Given the description of an element on the screen output the (x, y) to click on. 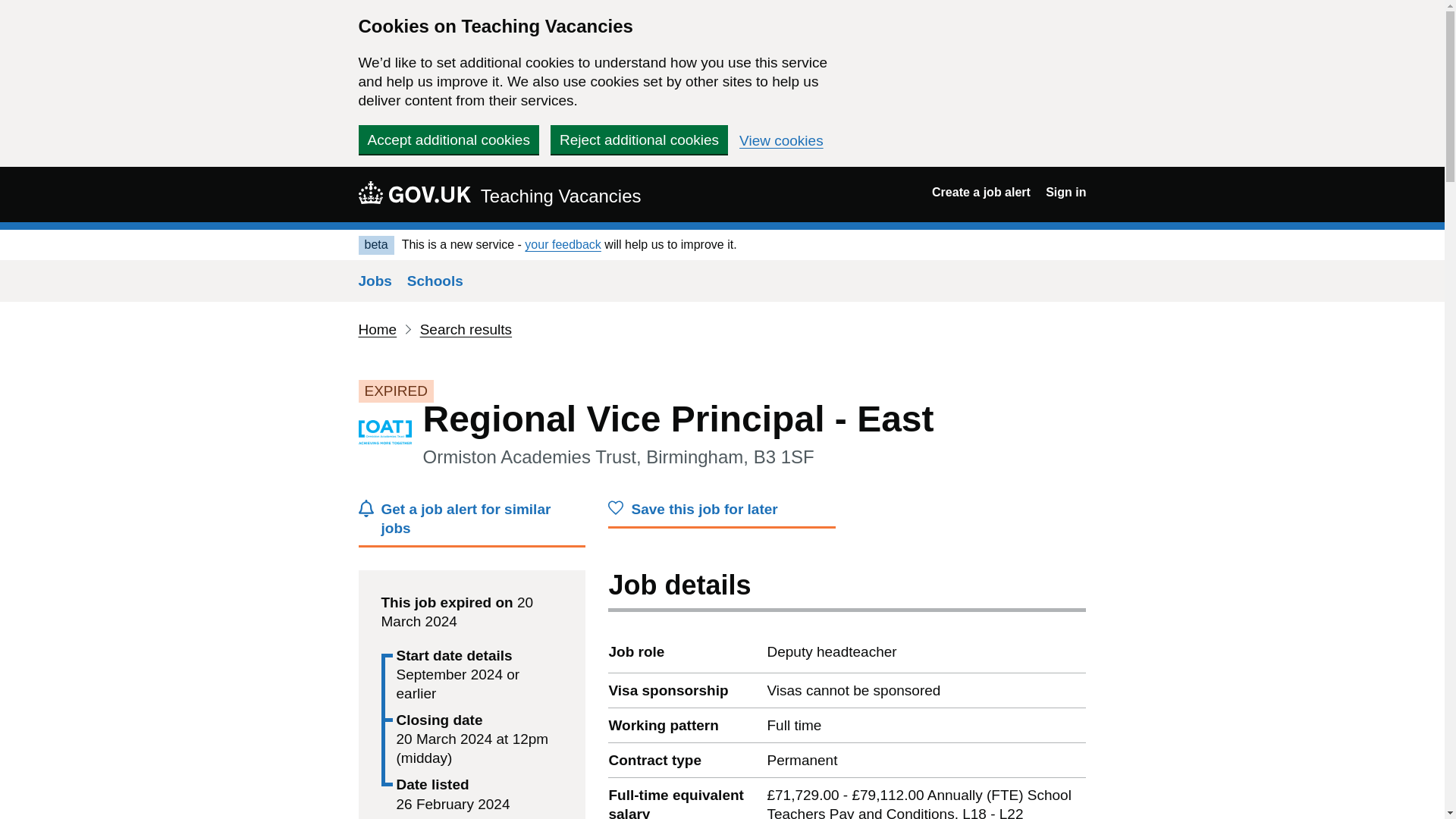
View cookies (781, 140)
Sign in (1065, 192)
your feedback (562, 244)
Schools (435, 281)
GOV.UK (414, 191)
Accept additional cookies (448, 139)
Get a job alert for similar jobs (471, 522)
Search results (466, 329)
Home (377, 329)
